Given the description of an element on the screen output the (x, y) to click on. 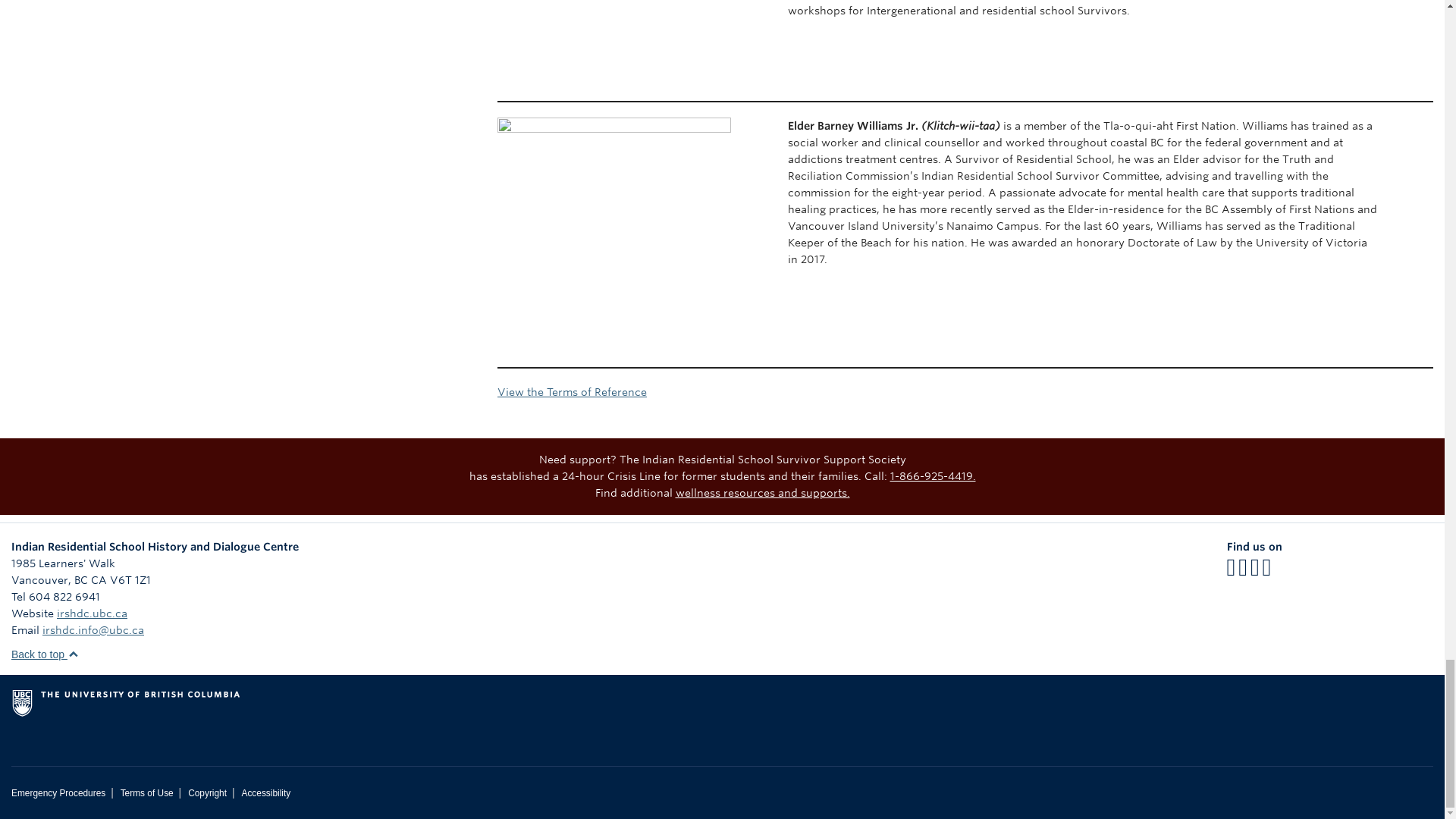
Accessibility (265, 792)
Terms of Use (146, 792)
Back to top (44, 654)
UBC Copyright (207, 792)
Emergency Procedures (57, 792)
